Given the description of an element on the screen output the (x, y) to click on. 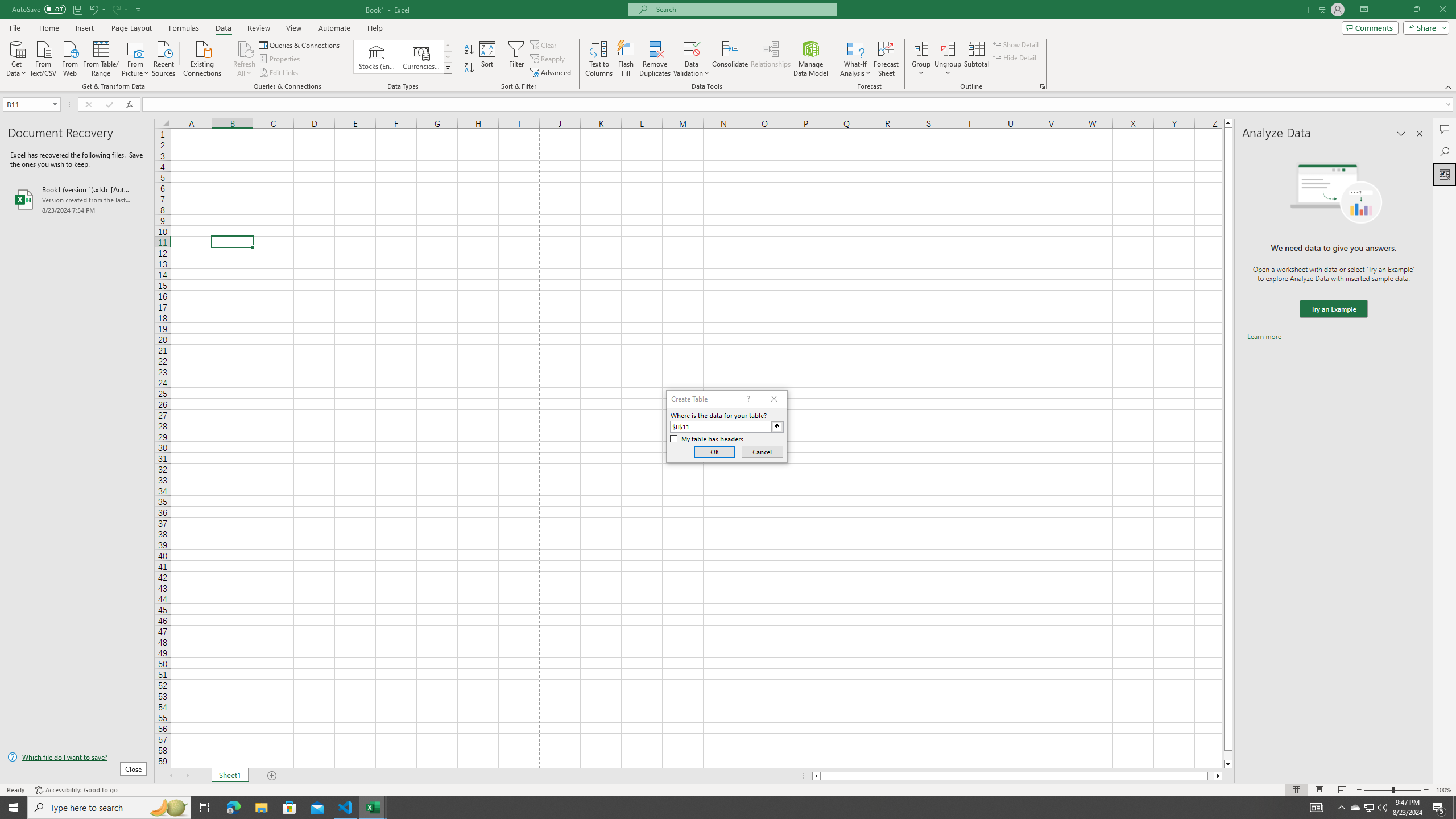
From Picture (135, 57)
Sort... (487, 58)
From Table/Range (100, 57)
Advanced... (551, 72)
